Given the description of an element on the screen output the (x, y) to click on. 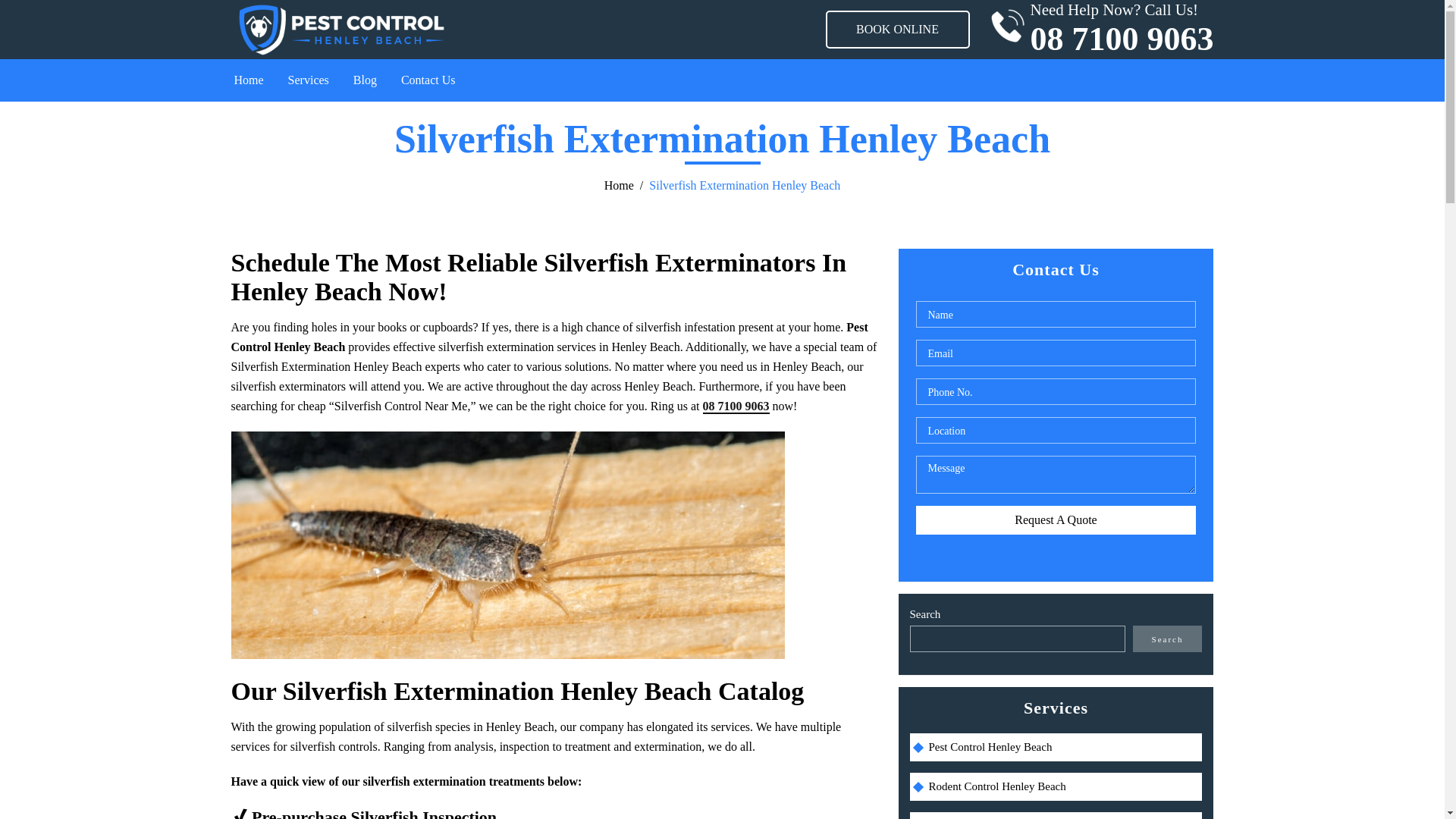
Home (248, 79)
Services (308, 79)
BOOK ONLINE (897, 29)
Request A Quote (1098, 29)
